Given the description of an element on the screen output the (x, y) to click on. 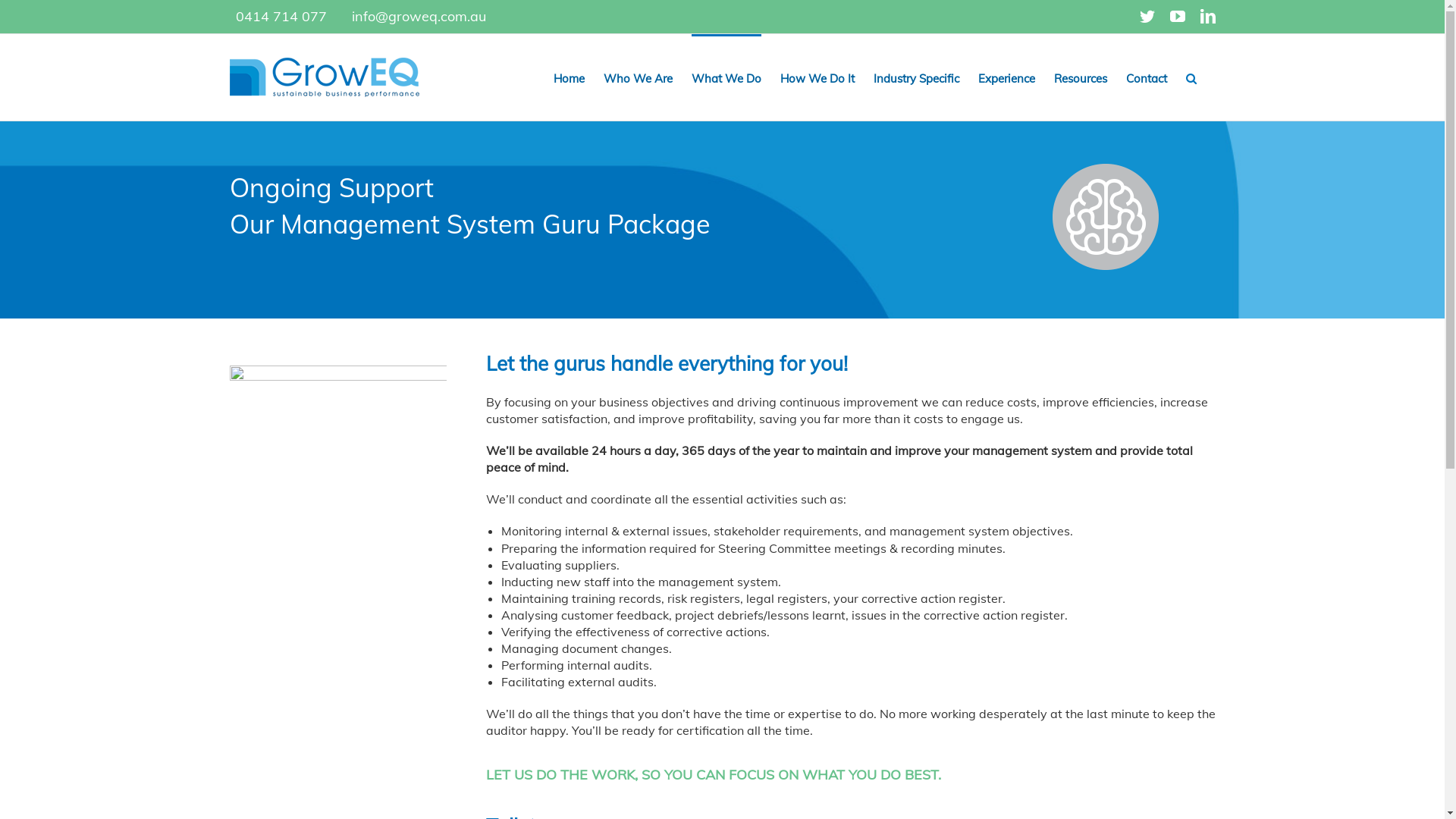
Experience Element type: text (1006, 77)
Industry Specific Element type: text (916, 77)
Resources Element type: text (1080, 77)
Contact Element type: text (1145, 77)
brain Element type: hover (1106, 216)
info@groweq.com.au Element type: text (418, 16)
Who We Are Element type: text (637, 77)
youtube Element type: text (1176, 16)
What We Do Element type: text (726, 77)
Search Element type: hover (1191, 77)
linkedin Element type: text (1206, 16)
How We Do It Element type: text (816, 77)
0414 714 077 Element type: text (280, 16)
twitter Element type: text (1146, 16)
key-blue Element type: hover (337, 473)
Home Element type: text (568, 77)
